Given the description of an element on the screen output the (x, y) to click on. 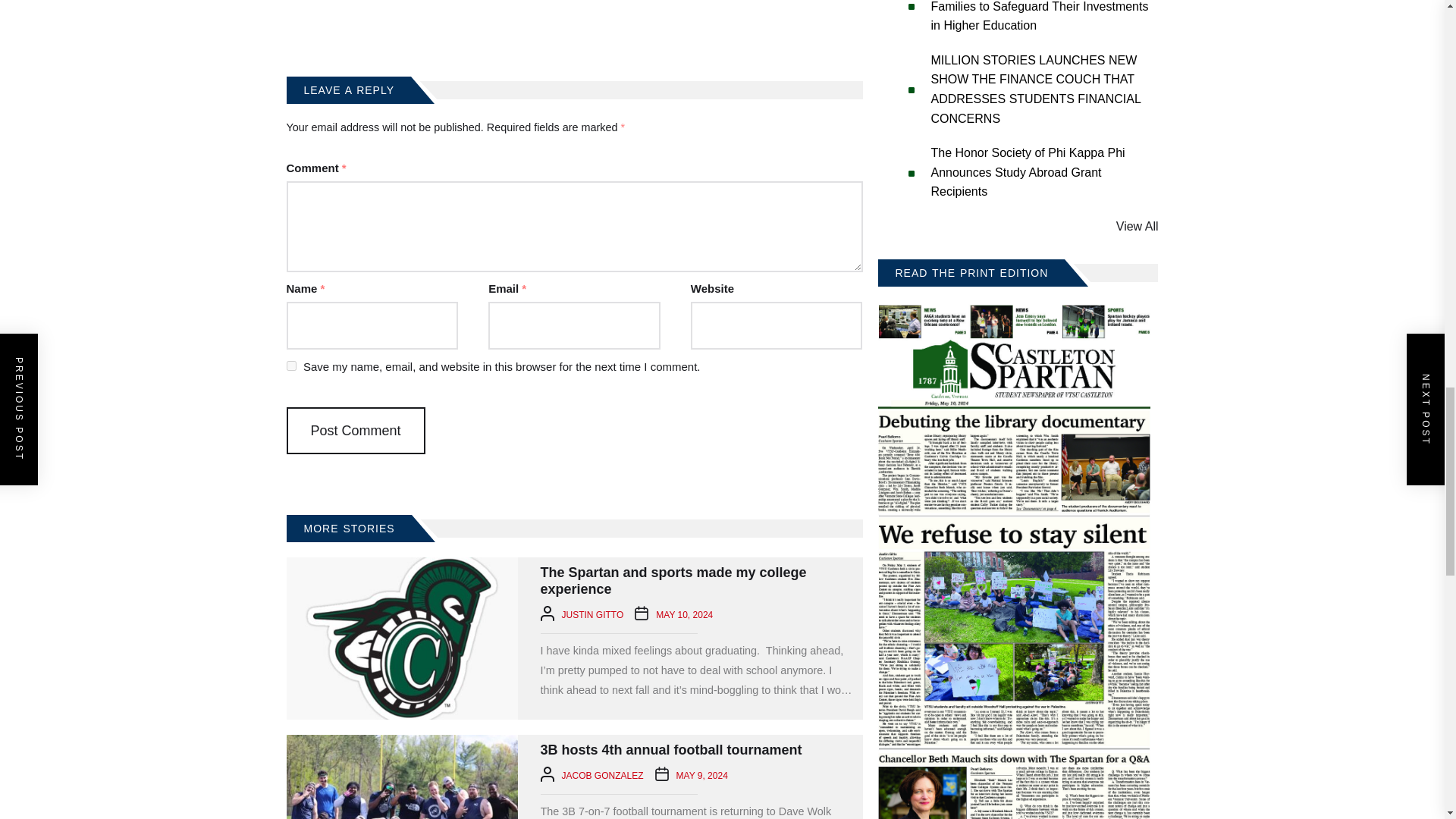
Post Comment (355, 431)
3B hosts 4th annual football tournament (402, 776)
yes (291, 366)
The Spartan and sports made my college experience (402, 638)
